Given the description of an element on the screen output the (x, y) to click on. 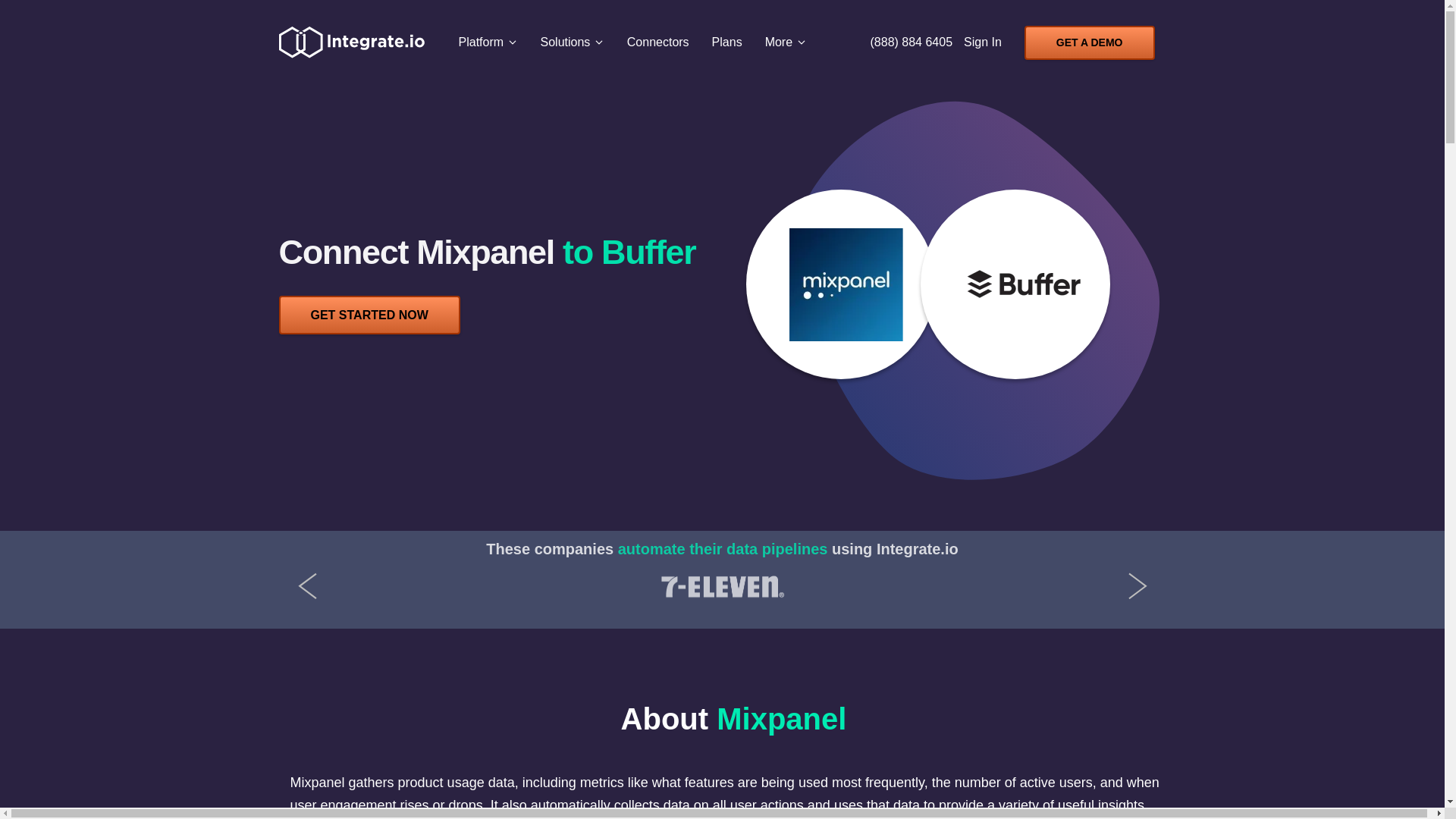
Connectors (657, 42)
GET A DEMO (1089, 42)
GET STARTED NOW (369, 314)
